Given the description of an element on the screen output the (x, y) to click on. 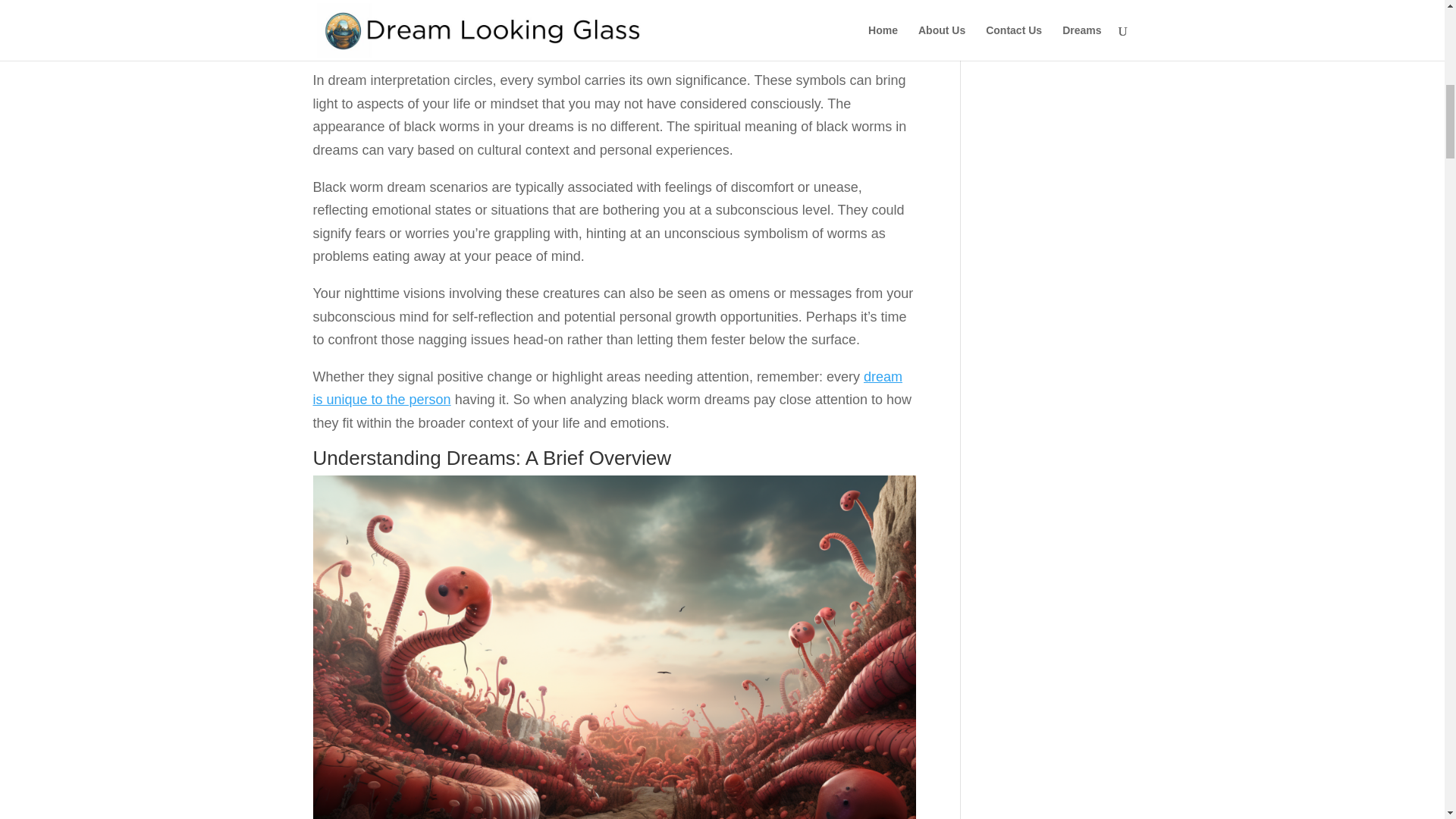
dream is unique to the person (607, 388)
